Given the description of an element on the screen output the (x, y) to click on. 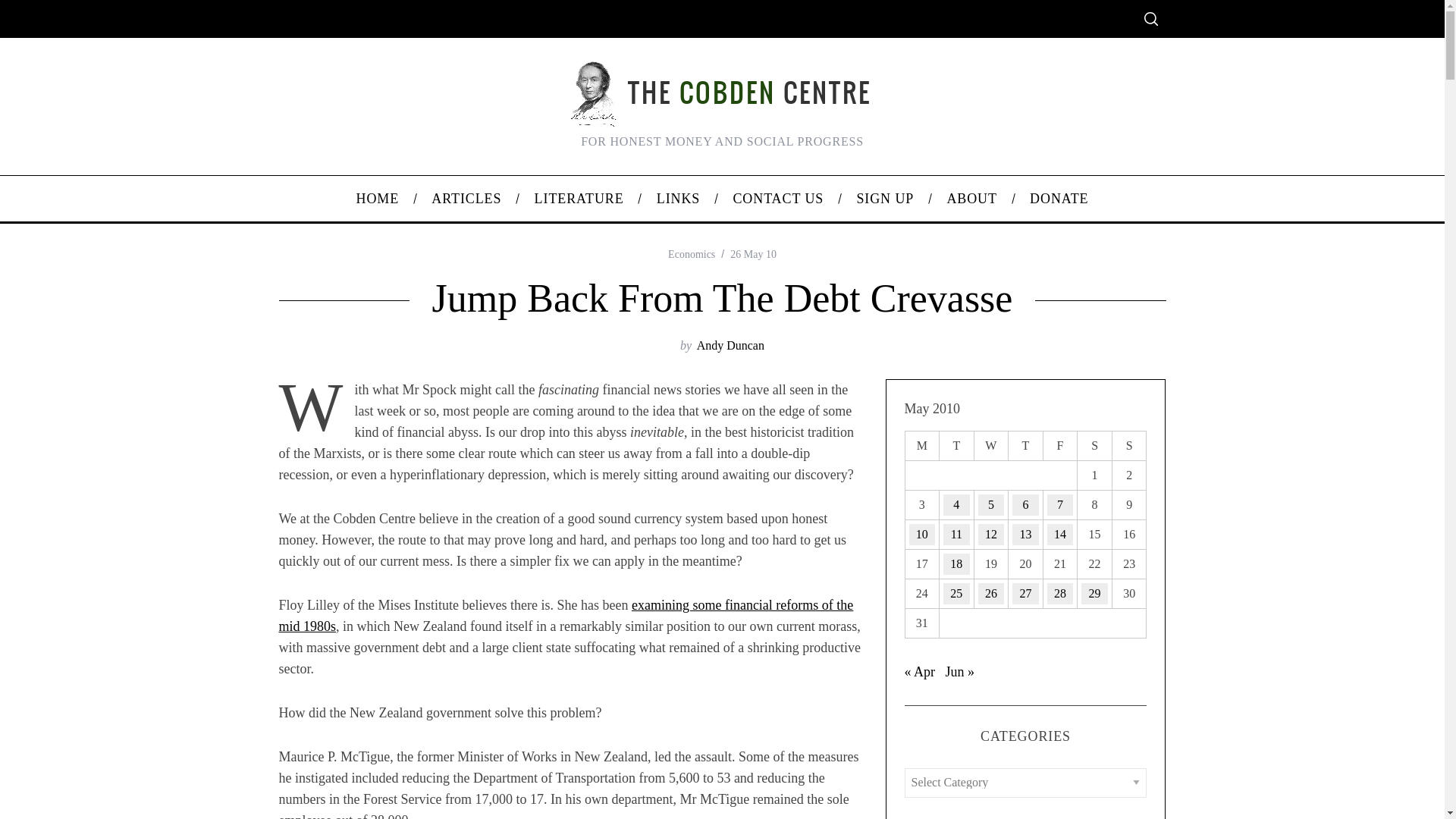
Monday (921, 445)
Economics (691, 254)
Friday (1059, 445)
Andy Duncan (730, 345)
Sunday (1129, 445)
ABOUT (971, 198)
Saturday (1094, 445)
examining some financial reforms of the mid 1980s (566, 615)
Thursday (1026, 445)
DONATE (1059, 198)
Wednesday (991, 445)
Tuesday (956, 445)
